Given the description of an element on the screen output the (x, y) to click on. 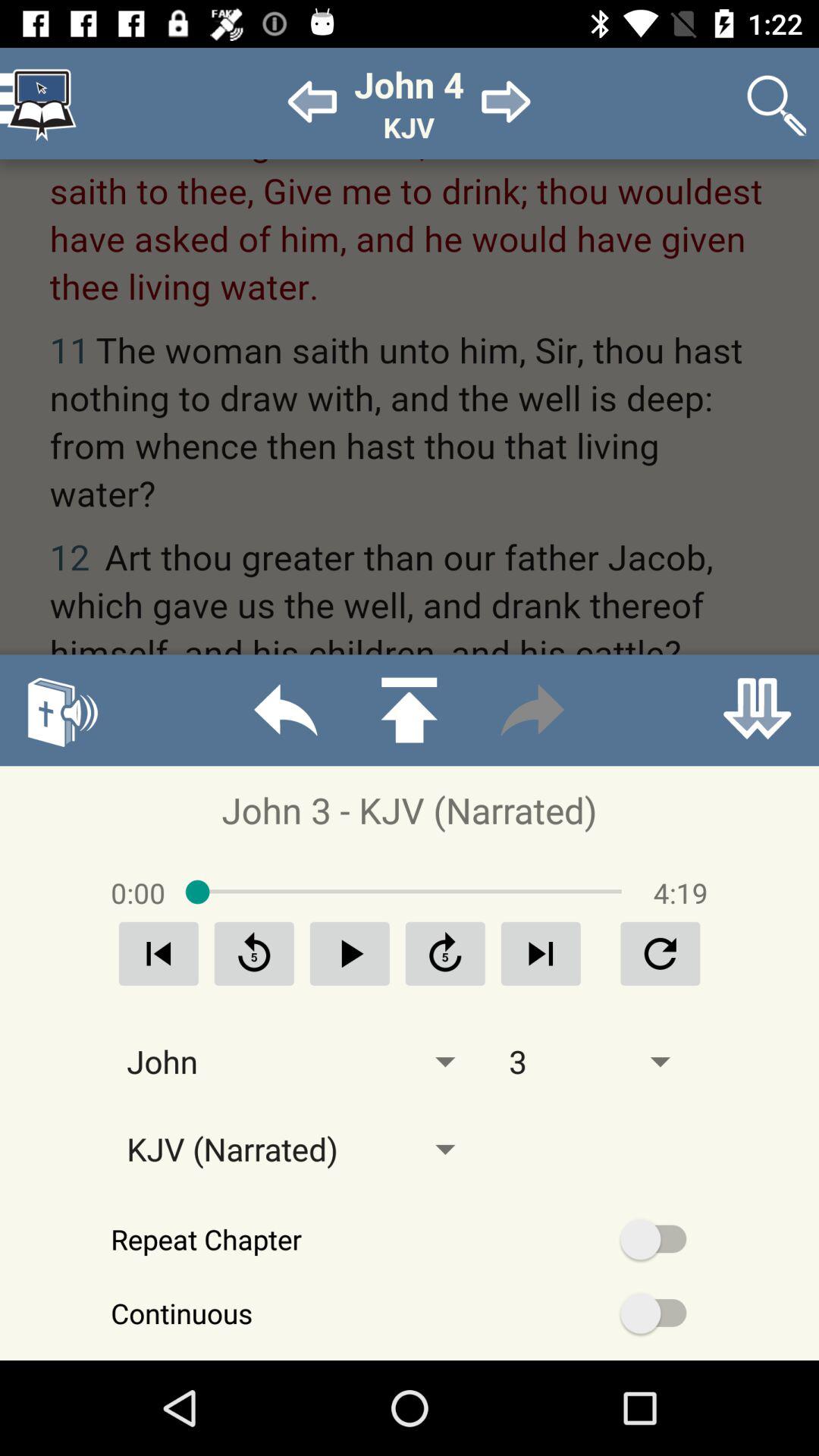
play forward option (540, 953)
